Given the description of an element on the screen output the (x, y) to click on. 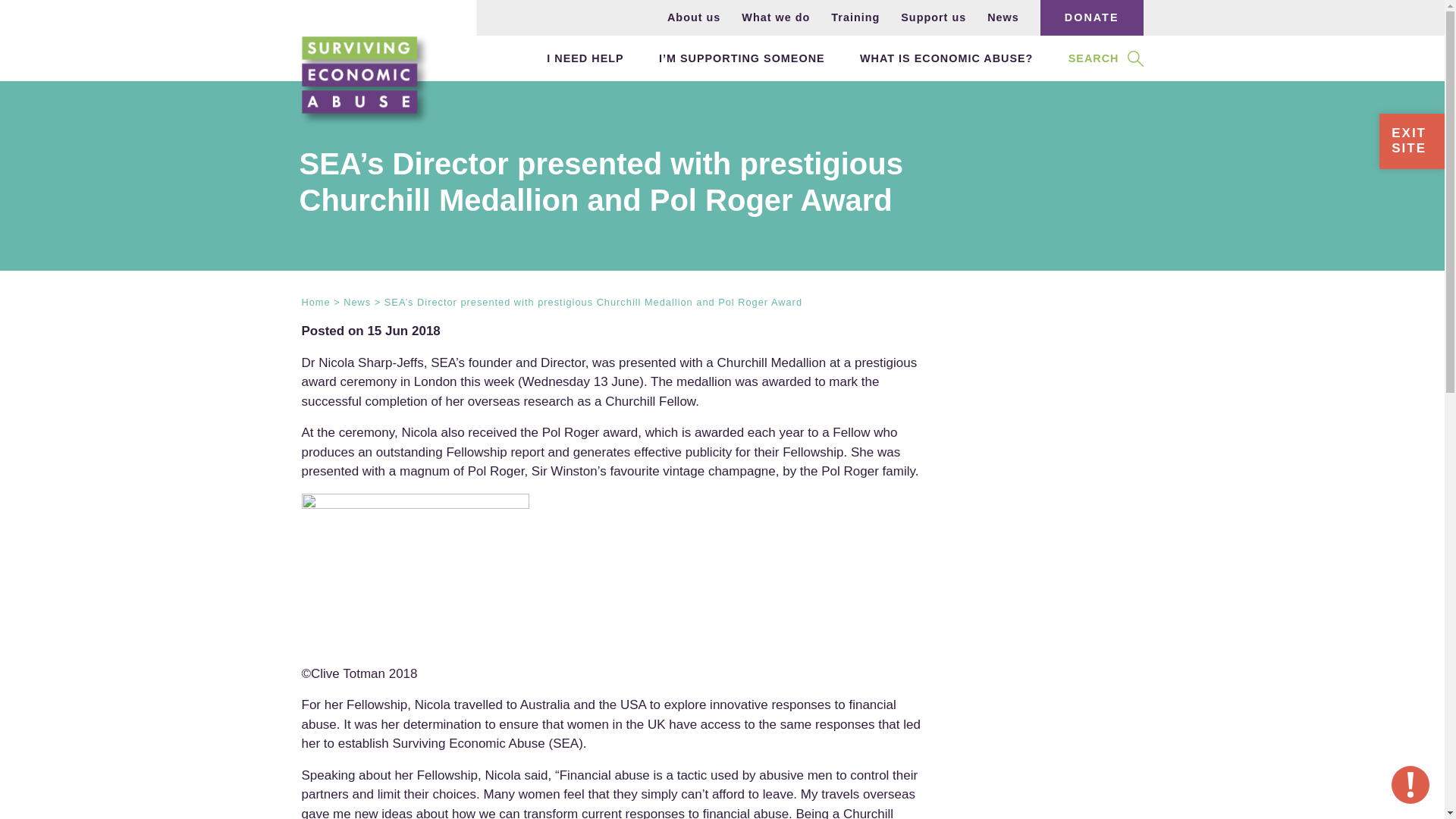
About us (693, 17)
News (1003, 17)
Home (315, 301)
WHAT IS ECONOMIC ABUSE? (946, 58)
What we do (775, 17)
Training (855, 17)
I NEED HELP (585, 58)
DONATE (1091, 17)
Support us (933, 17)
SEARCH (1093, 58)
